Given the description of an element on the screen output the (x, y) to click on. 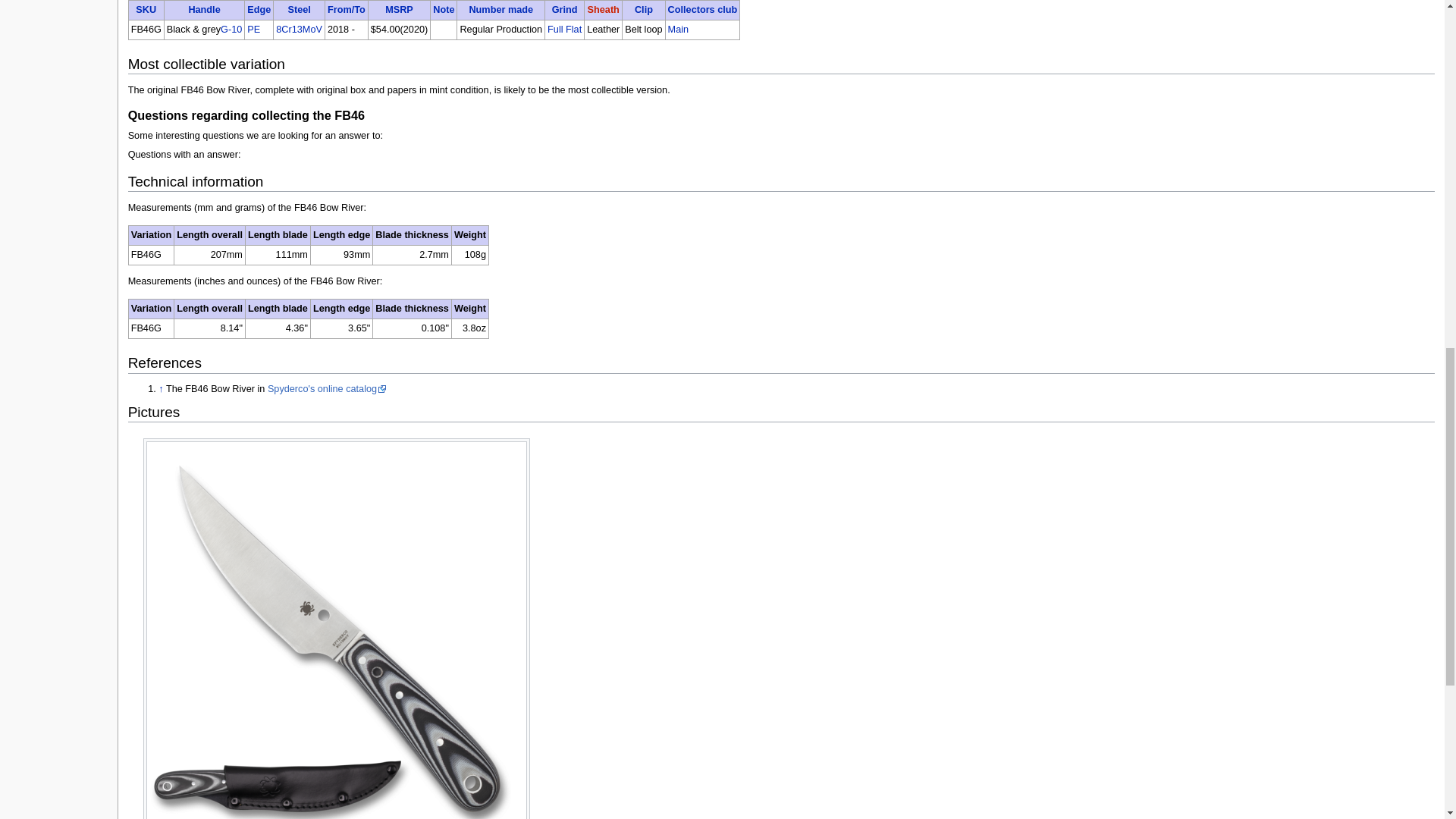
Note (443, 9)
Number made (500, 9)
SKU (145, 9)
Handle (203, 9)
Steel (298, 9)
Edge (258, 9)
Number made (500, 9)
SKU (145, 9)
MSRP (399, 9)
Note (443, 9)
